Given the description of an element on the screen output the (x, y) to click on. 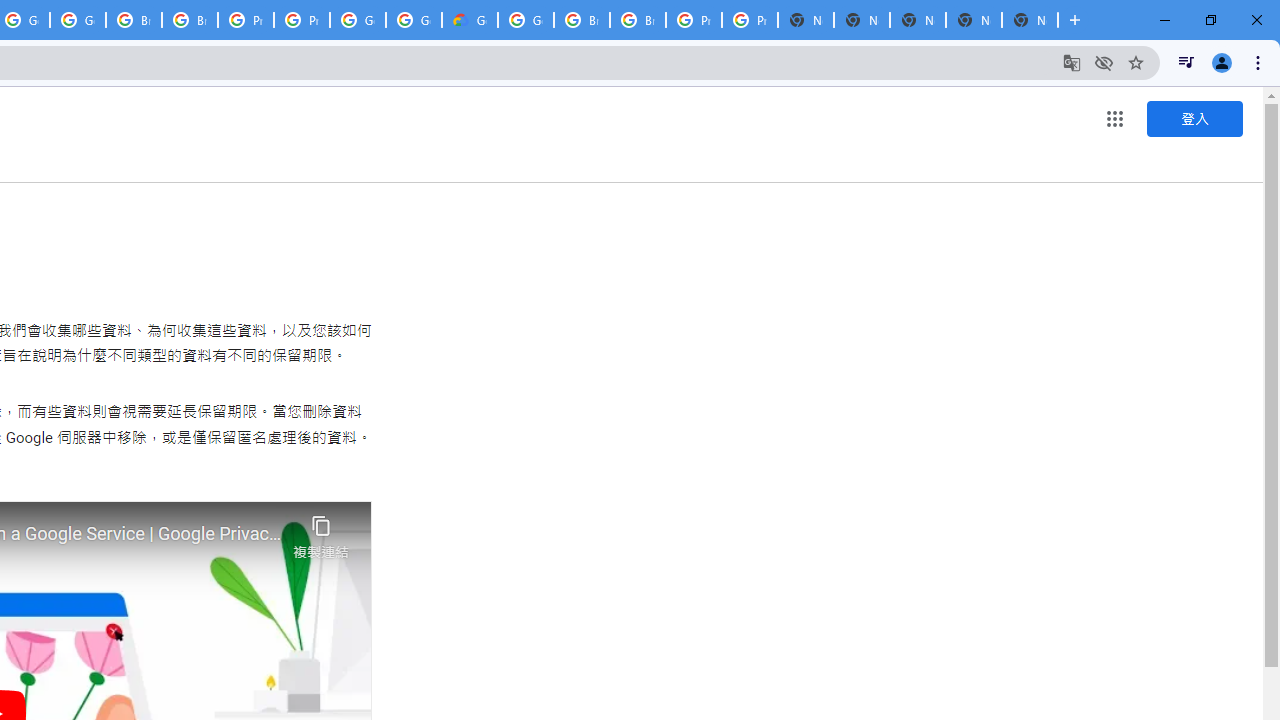
Control your music, videos, and more (1185, 62)
Translate this page (1071, 62)
Google Cloud Platform (413, 20)
Google Cloud Platform (358, 20)
Google Cloud Platform (525, 20)
